Given the description of an element on the screen output the (x, y) to click on. 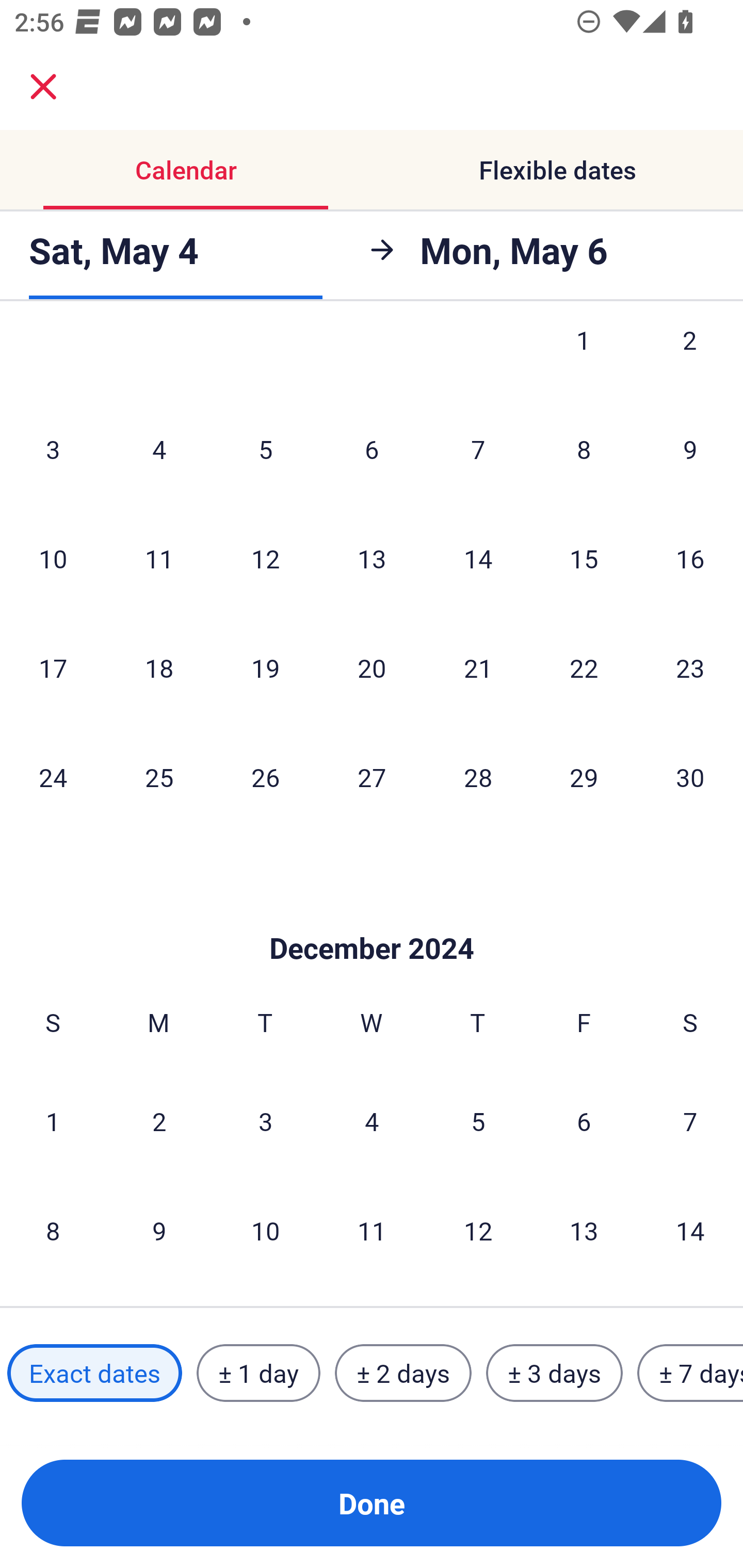
close. (43, 86)
Flexible dates (557, 170)
1 Friday, November 1, 2024 (583, 361)
2 Saturday, November 2, 2024 (689, 361)
3 Sunday, November 3, 2024 (53, 448)
4 Monday, November 4, 2024 (159, 448)
5 Tuesday, November 5, 2024 (265, 448)
6 Wednesday, November 6, 2024 (371, 448)
7 Thursday, November 7, 2024 (477, 448)
8 Friday, November 8, 2024 (584, 448)
9 Saturday, November 9, 2024 (690, 448)
10 Sunday, November 10, 2024 (53, 557)
11 Monday, November 11, 2024 (159, 557)
12 Tuesday, November 12, 2024 (265, 557)
13 Wednesday, November 13, 2024 (371, 557)
14 Thursday, November 14, 2024 (477, 557)
15 Friday, November 15, 2024 (584, 557)
16 Saturday, November 16, 2024 (690, 557)
17 Sunday, November 17, 2024 (53, 667)
18 Monday, November 18, 2024 (159, 667)
19 Tuesday, November 19, 2024 (265, 667)
20 Wednesday, November 20, 2024 (371, 667)
21 Thursday, November 21, 2024 (477, 667)
22 Friday, November 22, 2024 (584, 667)
23 Saturday, November 23, 2024 (690, 667)
24 Sunday, November 24, 2024 (53, 776)
25 Monday, November 25, 2024 (159, 776)
26 Tuesday, November 26, 2024 (265, 776)
27 Wednesday, November 27, 2024 (371, 776)
28 Thursday, November 28, 2024 (477, 776)
29 Friday, November 29, 2024 (584, 776)
30 Saturday, November 30, 2024 (690, 776)
Skip to Done (371, 917)
1 Sunday, December 1, 2024 (53, 1120)
2 Monday, December 2, 2024 (159, 1120)
3 Tuesday, December 3, 2024 (265, 1120)
4 Wednesday, December 4, 2024 (371, 1120)
5 Thursday, December 5, 2024 (477, 1120)
6 Friday, December 6, 2024 (584, 1120)
7 Saturday, December 7, 2024 (690, 1120)
8 Sunday, December 8, 2024 (53, 1229)
9 Monday, December 9, 2024 (159, 1229)
10 Tuesday, December 10, 2024 (265, 1229)
11 Wednesday, December 11, 2024 (371, 1229)
12 Thursday, December 12, 2024 (477, 1229)
13 Friday, December 13, 2024 (584, 1229)
14 Saturday, December 14, 2024 (690, 1229)
Exact dates (94, 1372)
± 1 day (258, 1372)
± 2 days (403, 1372)
± 3 days (553, 1372)
± 7 days (690, 1372)
Done (371, 1502)
